Given the description of an element on the screen output the (x, y) to click on. 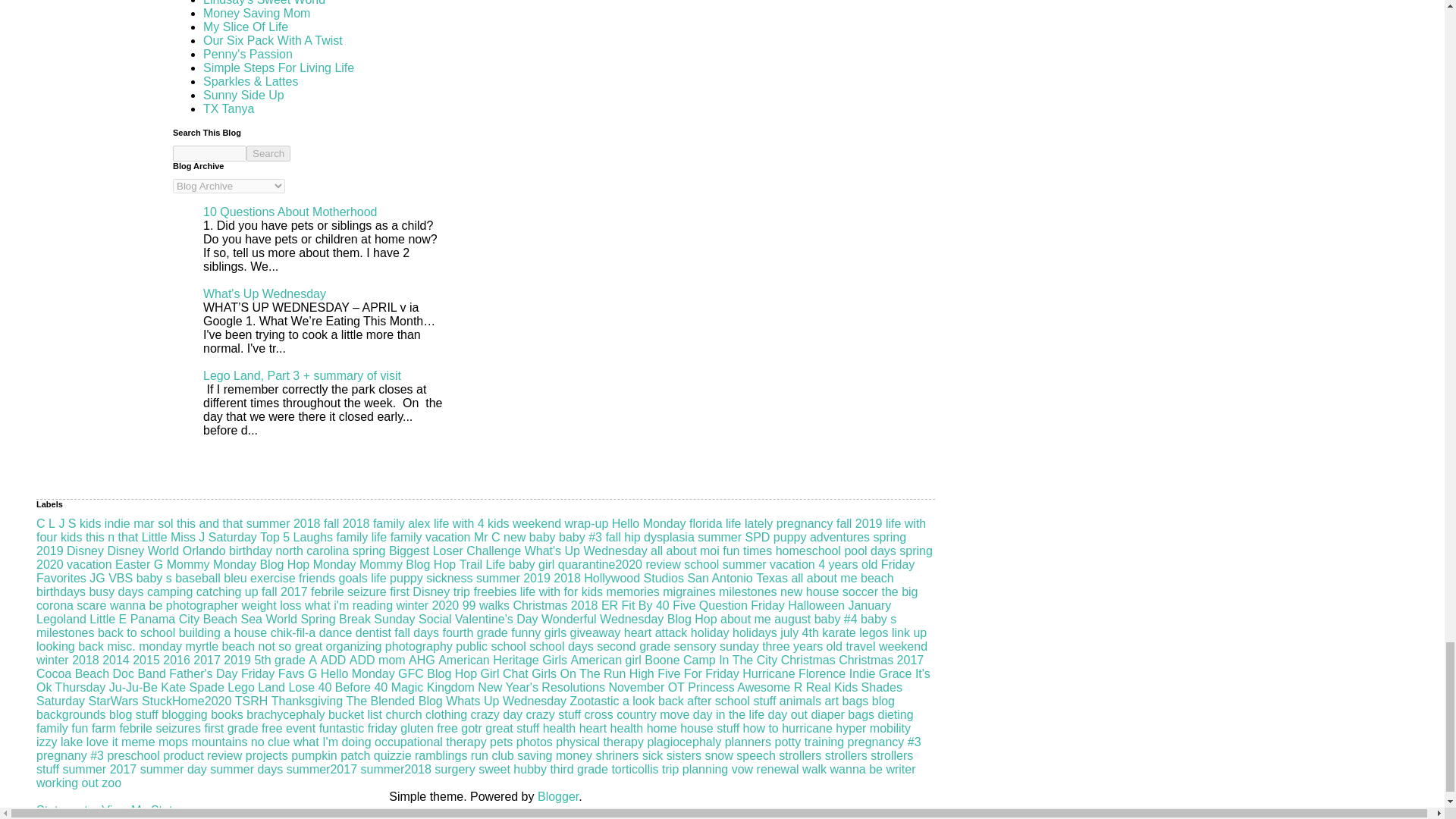
search (267, 153)
Search (267, 153)
Search (267, 153)
search (209, 153)
